Given the description of an element on the screen output the (x, y) to click on. 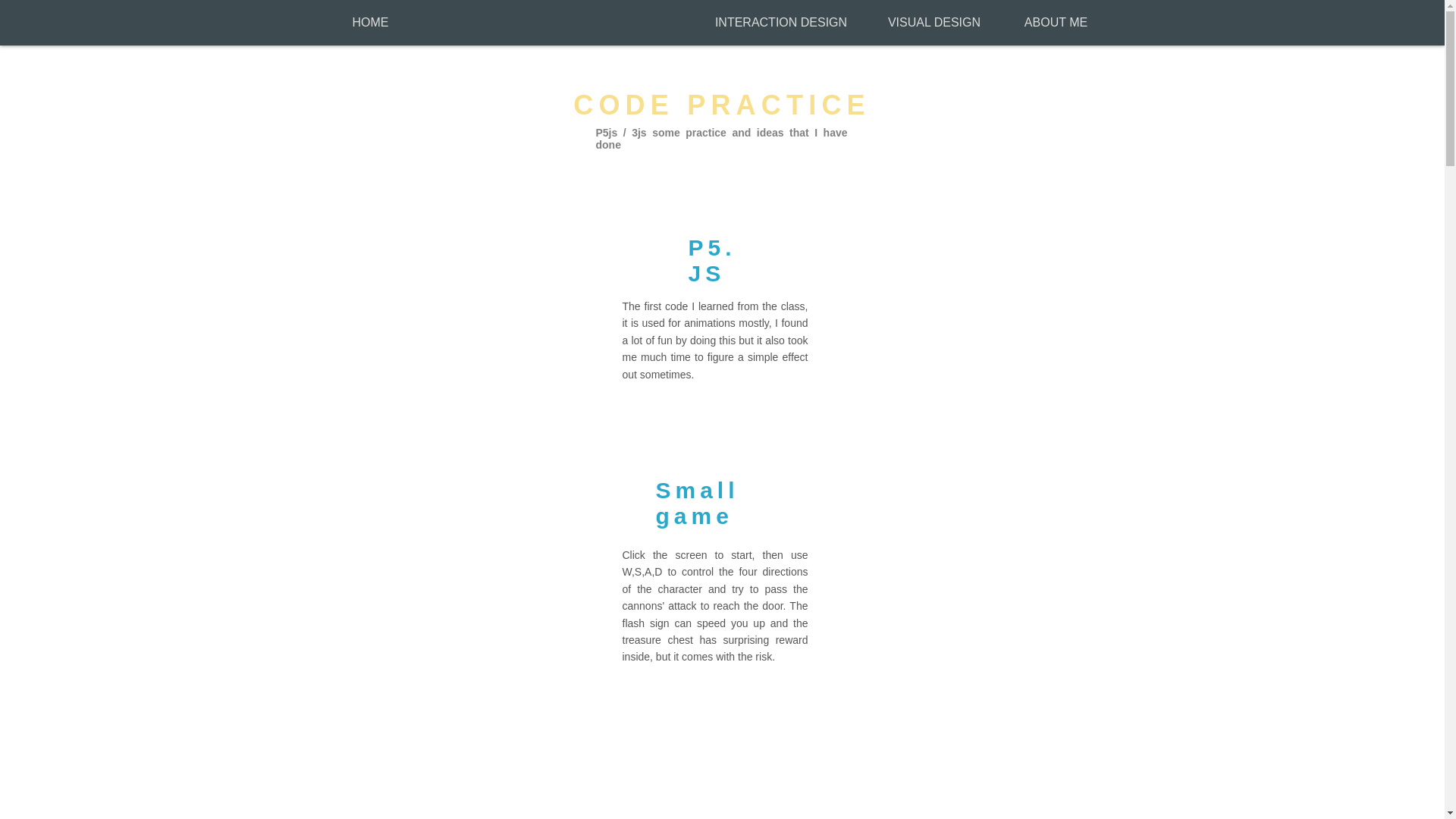
ABOUT ME (1055, 22)
HOME (370, 22)
INTERACTION DESIGN (780, 22)
CODE PRACTICE (721, 104)
VISUAL DESIGN (933, 22)
